Given the description of an element on the screen output the (x, y) to click on. 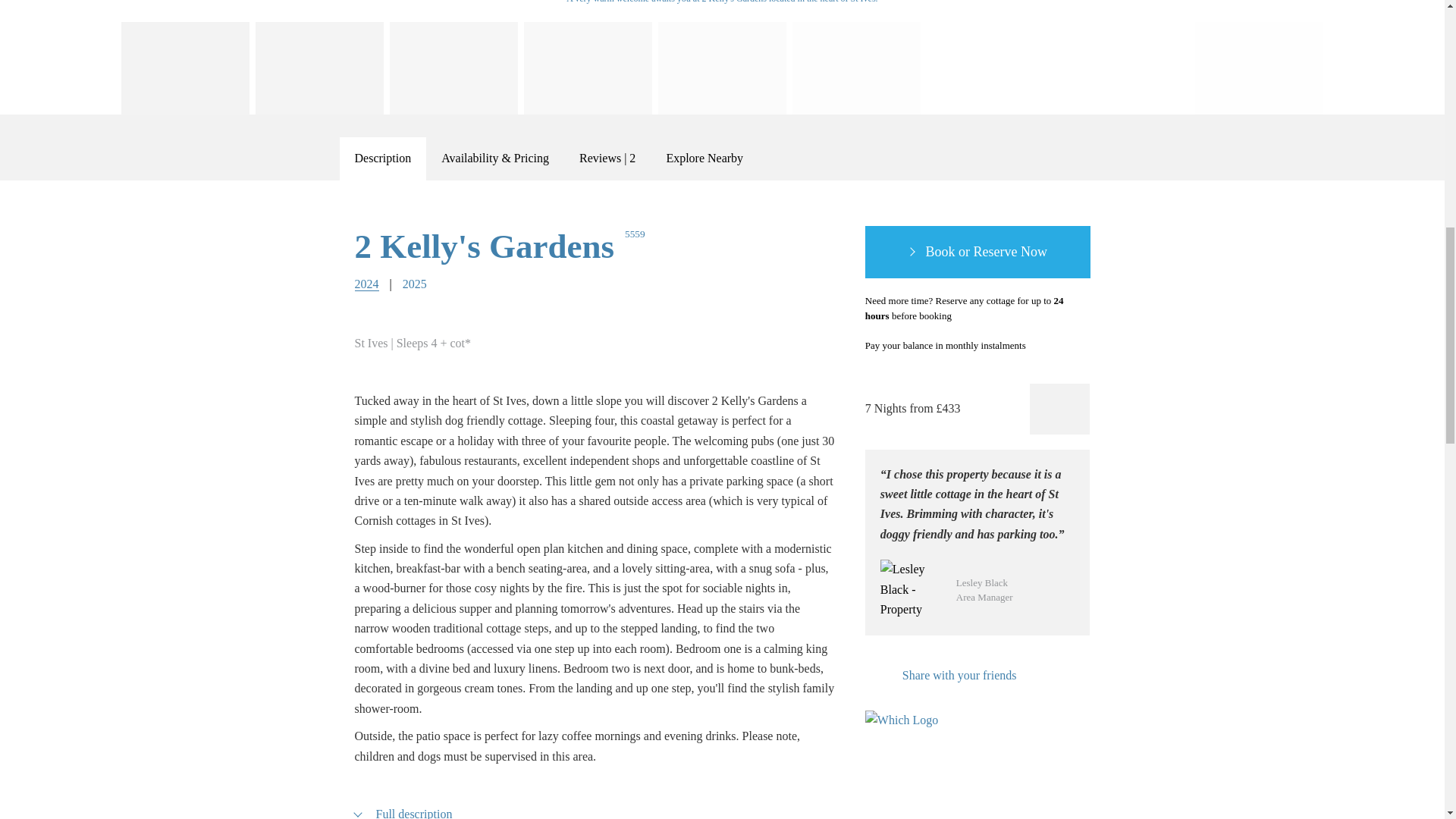
2025 (414, 283)
Share with your friends (940, 675)
Full description (403, 811)
Description (382, 158)
Explore Nearby (704, 158)
Classic Cottages is a Which? Recommended Provider (908, 738)
Part Payment Information (1042, 345)
Book or Reserve (977, 252)
2024 (366, 284)
